Given the description of an element on the screen output the (x, y) to click on. 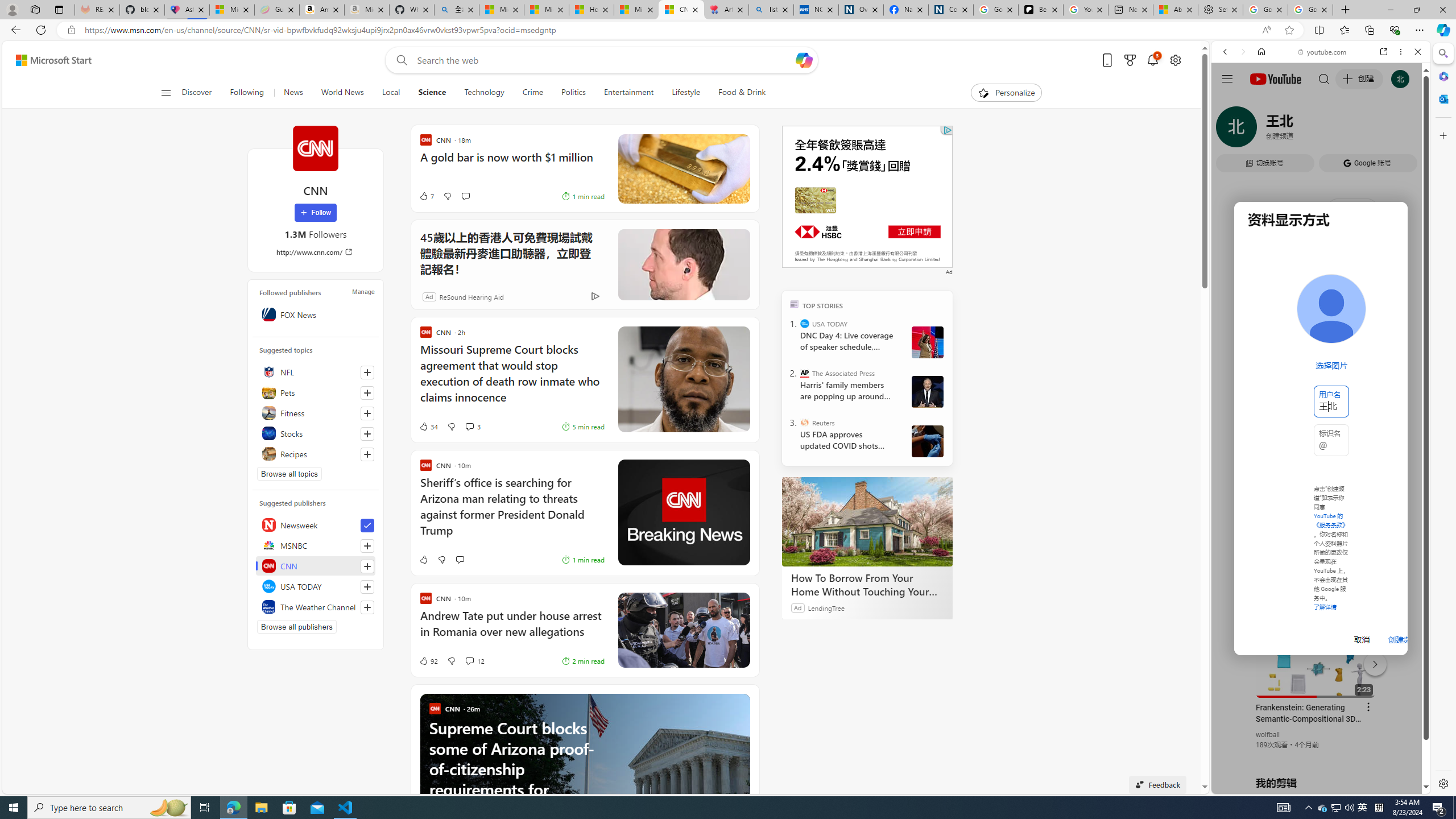
Follow this source (367, 607)
Music (1320, 309)
NCL Adult Asthma Inhaler Choice Guideline (816, 9)
Browse all publishers (296, 626)
